Given the description of an element on the screen output the (x, y) to click on. 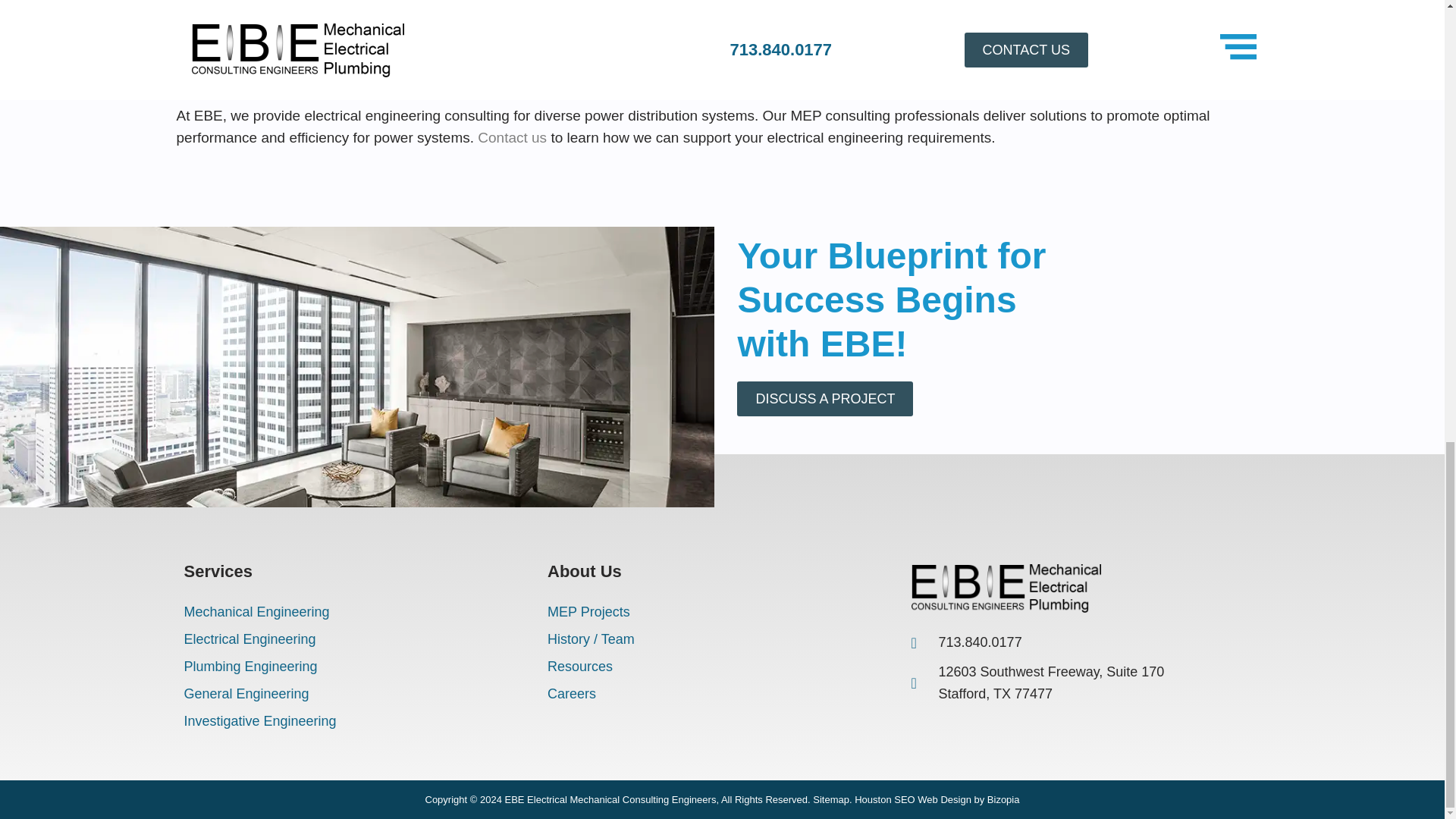
General Engineering (357, 693)
12603 Southwest Freeway, Suite 170 Stafford, TX 77477 (1040, 682)
Plumbing Engineering (357, 666)
DISCUSS A PROJECT (824, 398)
Mechanical Engineering (357, 611)
Careers (721, 693)
Investigative Engineering (357, 720)
713.840.0177 (1040, 642)
Sitemap (830, 799)
Resources (721, 666)
Contact us (512, 137)
MEP Projects (721, 611)
Electrical Engineering (357, 638)
